Given the description of an element on the screen output the (x, y) to click on. 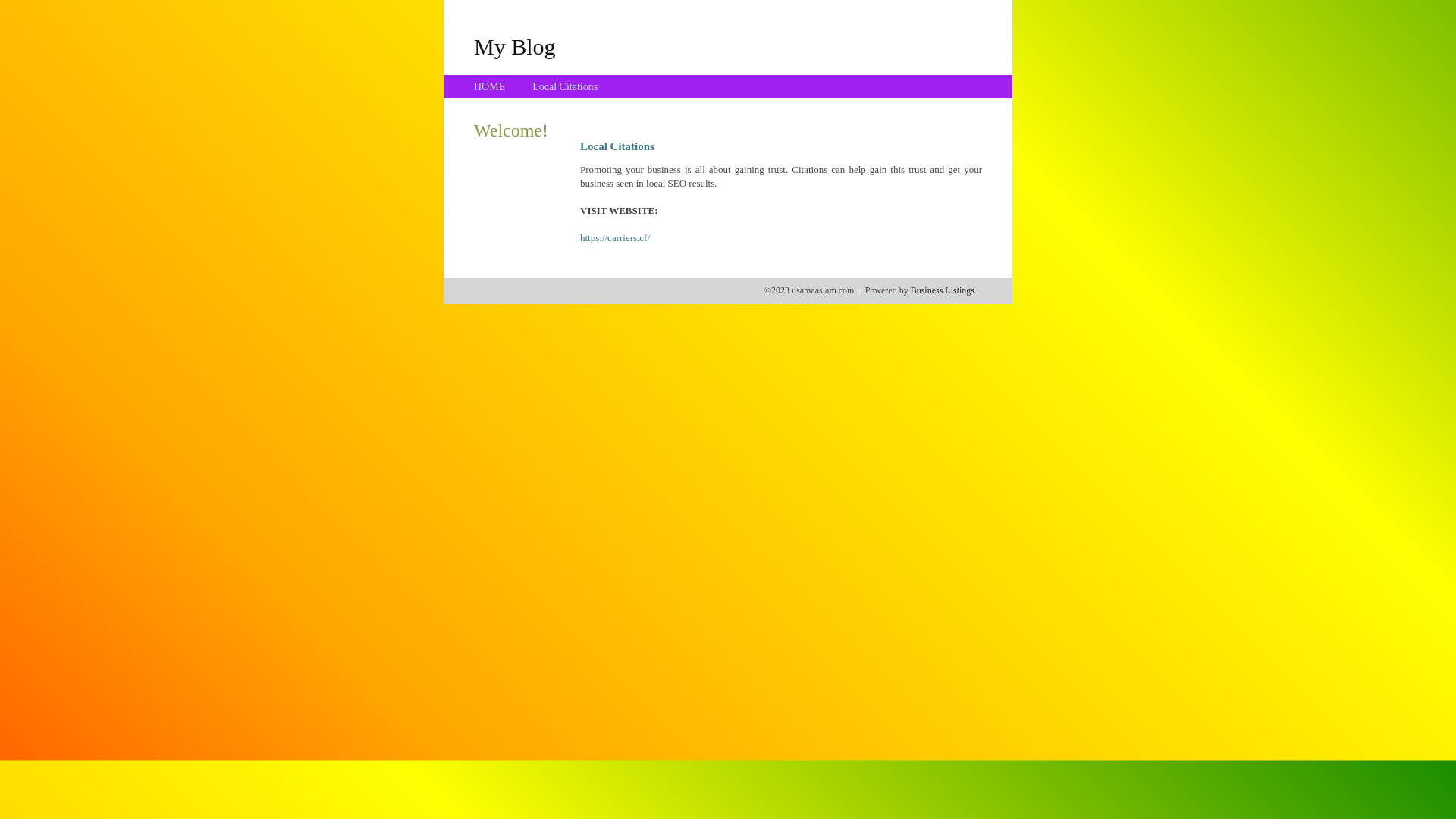
HOME Element type: text (489, 86)
Business Listings Element type: text (942, 290)
My Blog Element type: text (514, 46)
Local Citations Element type: text (564, 86)
https://carriers.cf/ Element type: text (614, 237)
